Given the description of an element on the screen output the (x, y) to click on. 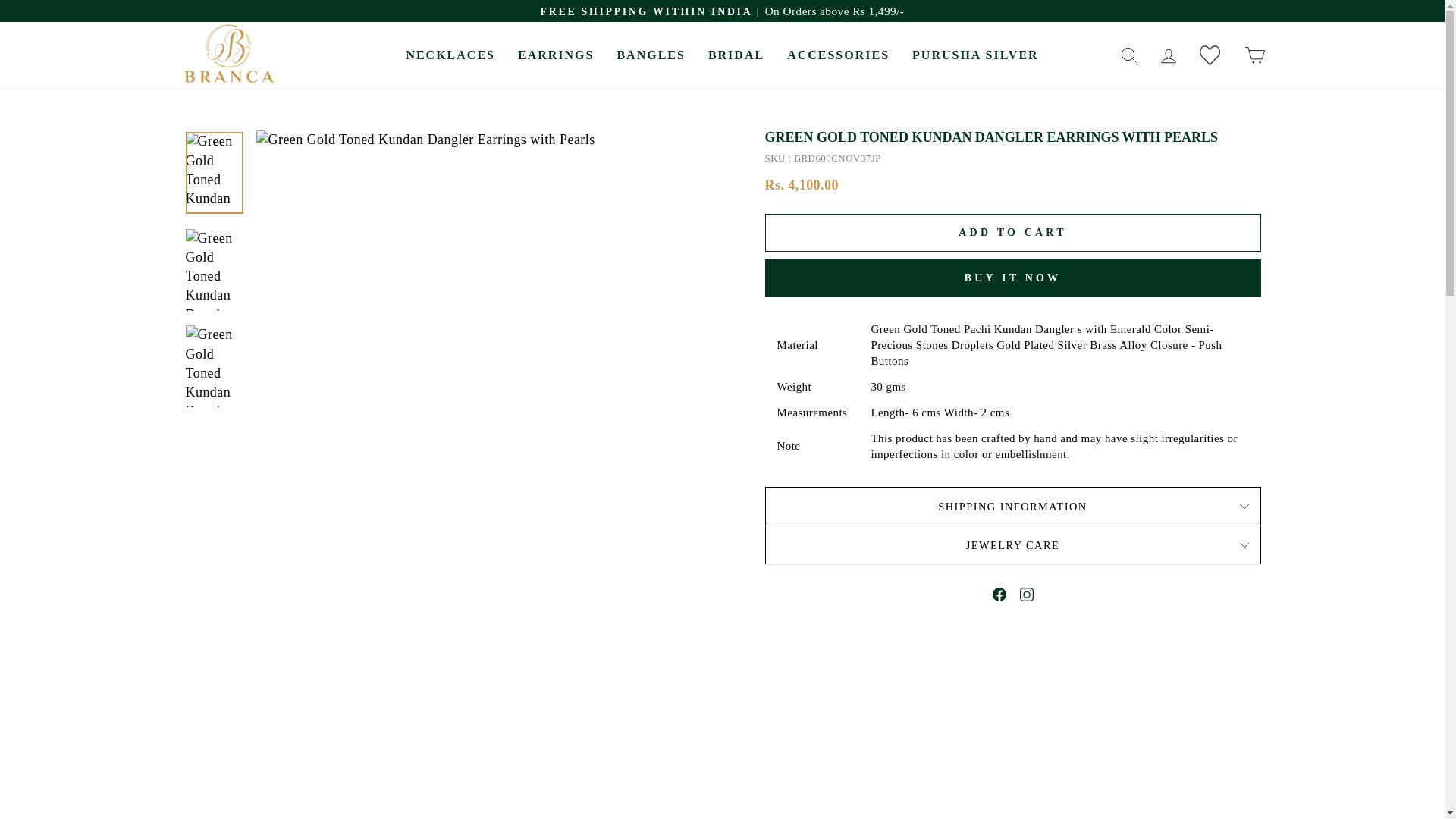
NECKLACES (450, 54)
CART (1254, 54)
EARRINGS (555, 54)
PURUSHA SILVER (975, 54)
LOG IN (1168, 54)
BANGLES (650, 54)
SEARCH (1128, 54)
BRIDAL (736, 54)
ACCESSORIES (838, 54)
